Given the description of an element on the screen output the (x, y) to click on. 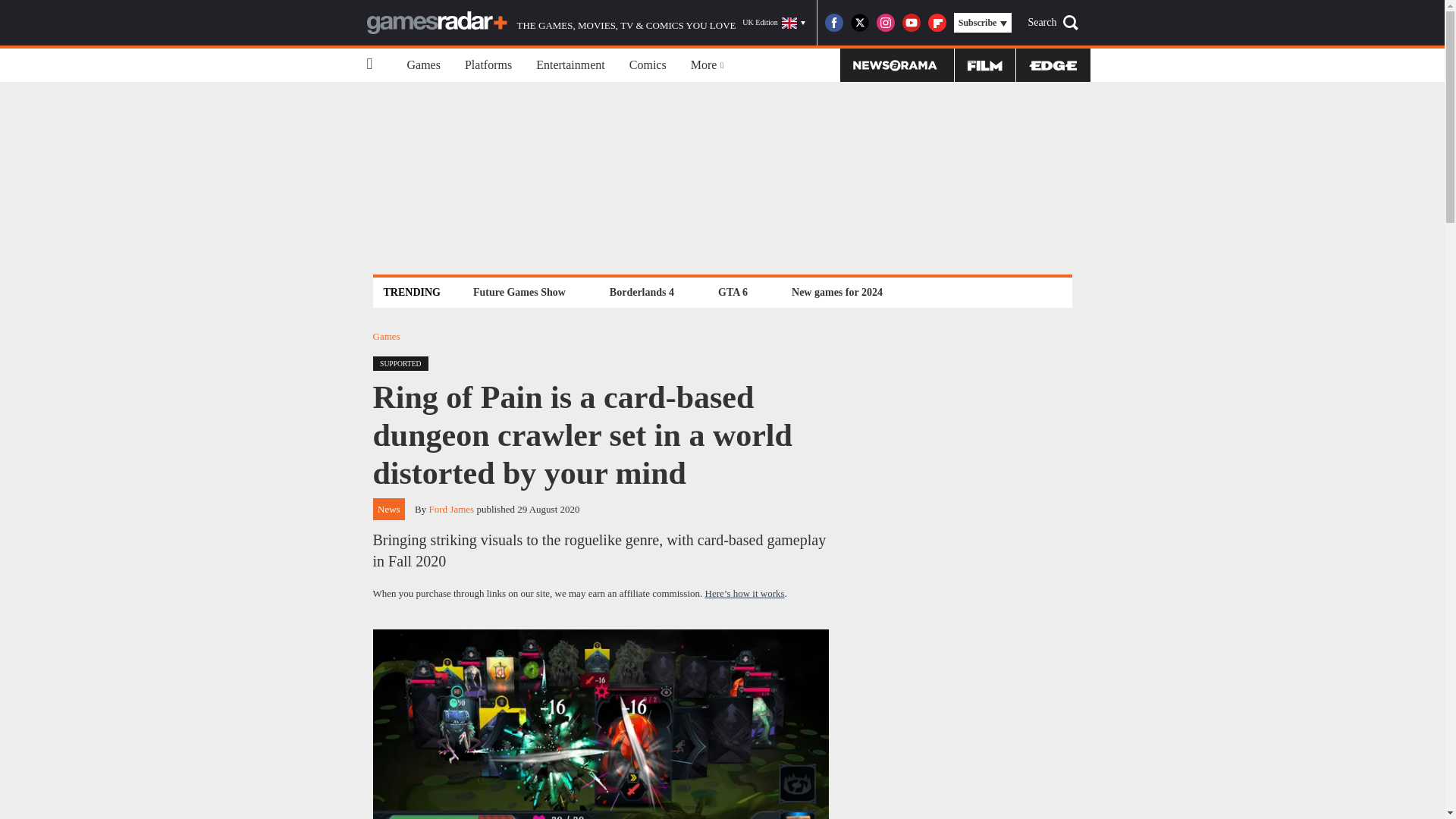
Platforms (488, 64)
Entertainment (570, 64)
Games (422, 64)
GTA 6 (732, 292)
UK Edition (773, 22)
Future Games Show (518, 292)
Borderlands 4 (641, 292)
Comics (647, 64)
New games for 2024 (837, 292)
